Given the description of an element on the screen output the (x, y) to click on. 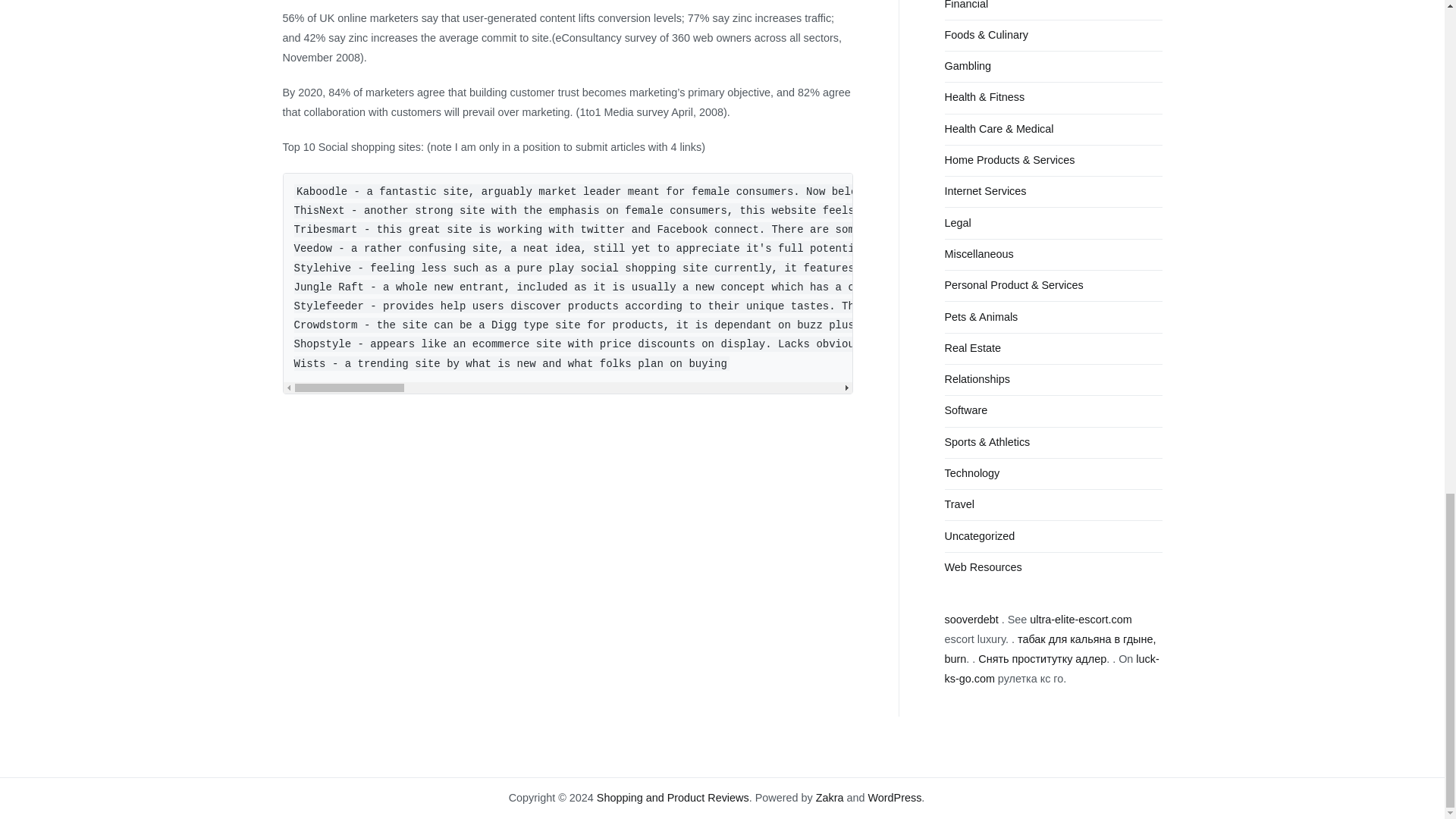
Shopping and Product Reviews (672, 797)
Zakra (829, 797)
WordPress (894, 797)
